Given the description of an element on the screen output the (x, y) to click on. 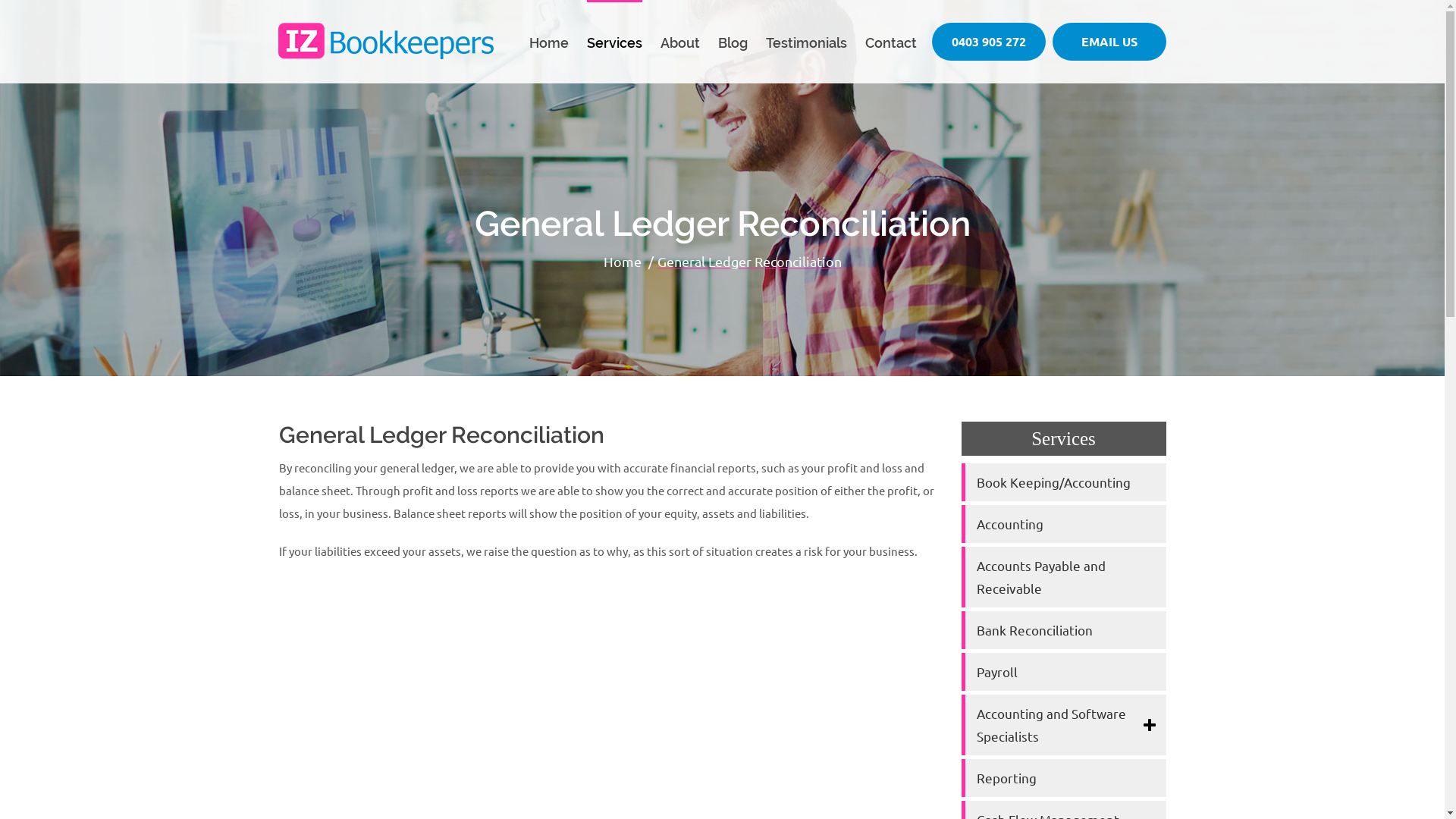
Bank Reconciliation Element type: text (1063, 630)
Accounting Element type: text (1063, 523)
About Element type: text (679, 41)
Payroll Element type: text (1063, 671)
Accounting and Software Specialists Element type: text (1063, 724)
Services Element type: text (614, 41)
Book Keeping/Accounting Element type: text (1063, 482)
Home Element type: text (548, 41)
Testimonials Element type: text (806, 41)
Bookkeeping Melbourne Element type: hover (384, 40)
Reporting Element type: text (1063, 778)
Accounts Payable and Receivable Element type: text (1063, 576)
Blog Element type: text (731, 41)
0403 905 272 Element type: text (987, 41)
Home Element type: text (622, 261)
EMAIL US Element type: text (1109, 41)
Contact Element type: text (890, 41)
